Given the description of an element on the screen output the (x, y) to click on. 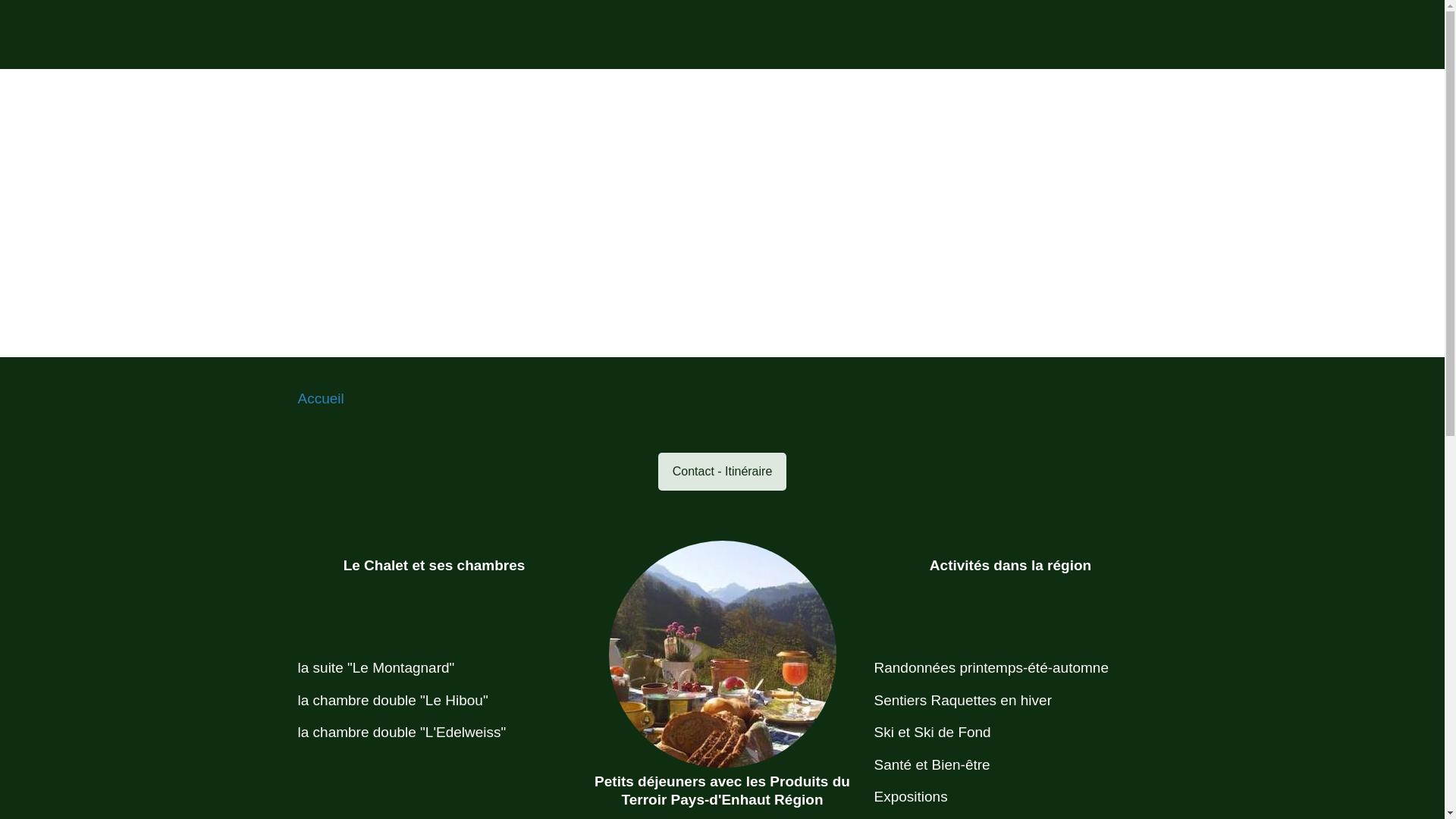
Accueil Element type: text (320, 398)
